Given the description of an element on the screen output the (x, y) to click on. 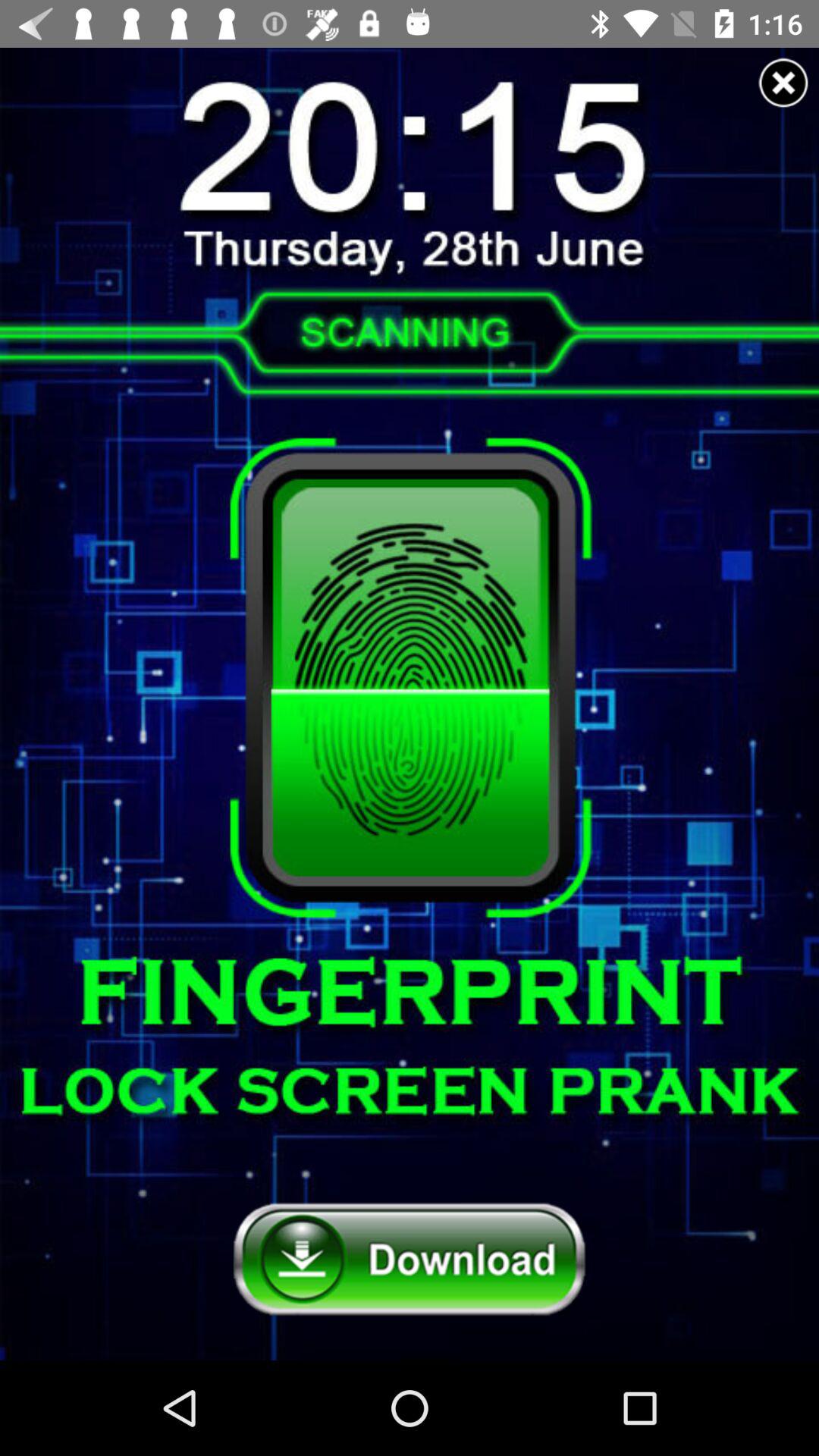
download button (409, 1260)
